Given the description of an element on the screen output the (x, y) to click on. 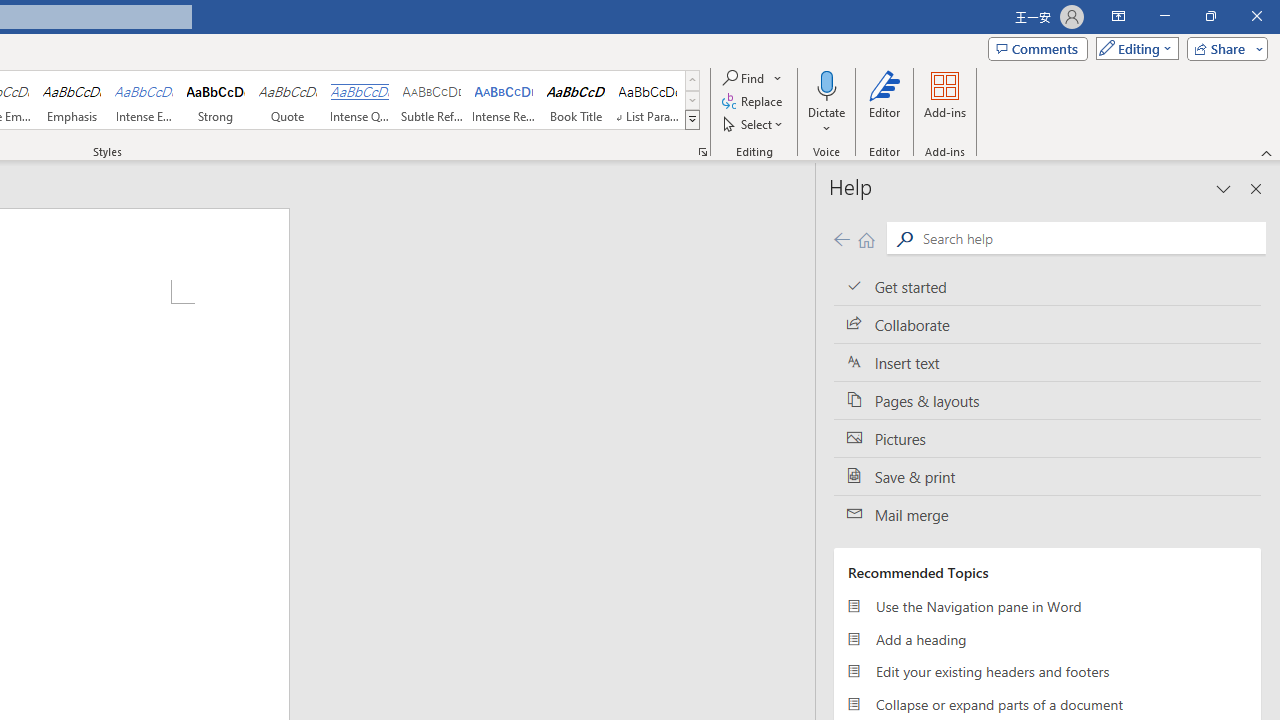
Intense Reference (504, 100)
Use the Navigation pane in Word (1047, 605)
Mail merge (1047, 515)
Pictures (1047, 438)
Subtle Reference (431, 100)
Strong (216, 100)
Previous page (841, 238)
